Given the description of an element on the screen output the (x, y) to click on. 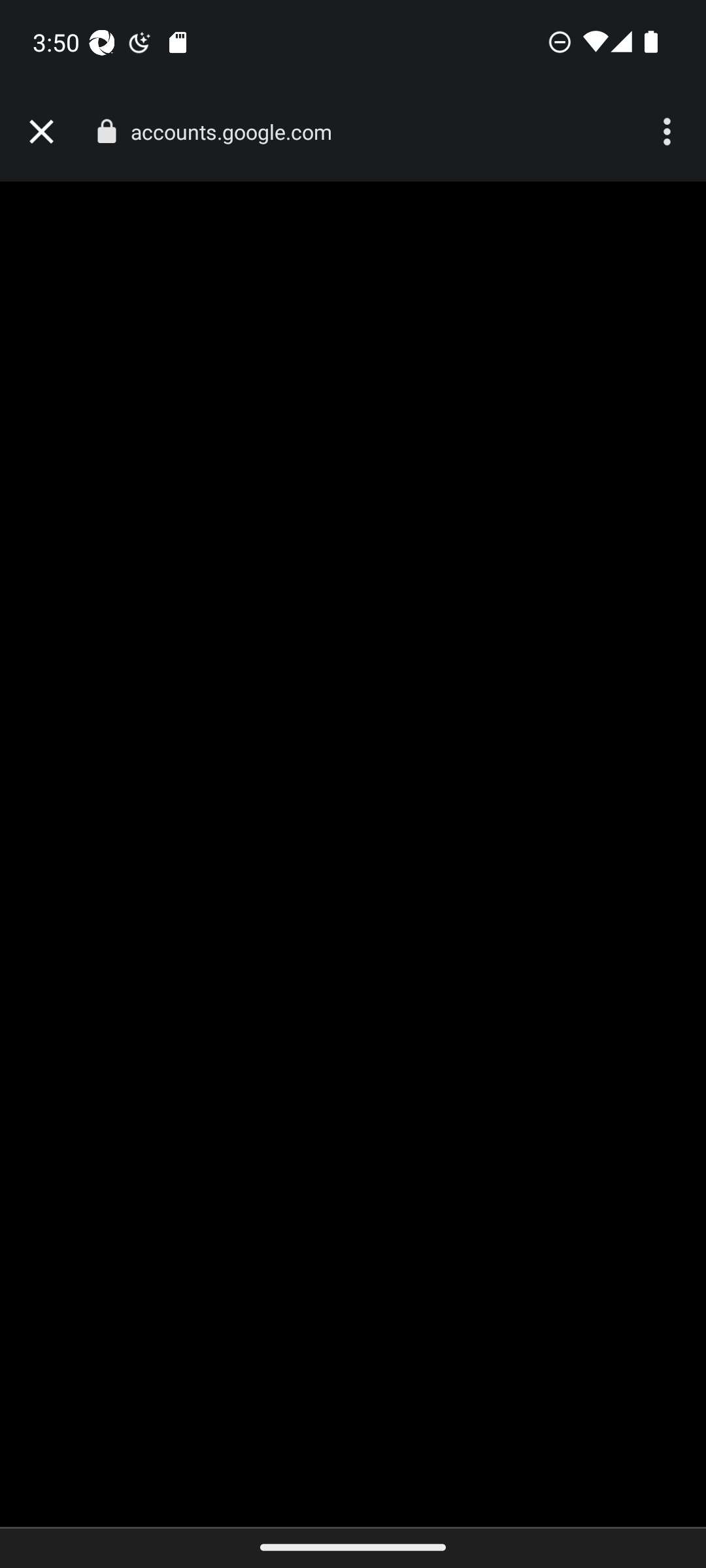
Close tab (41, 131)
More options (669, 131)
Connection is secure (106, 131)
accounts.google.com (237, 131)
